Given the description of an element on the screen output the (x, y) to click on. 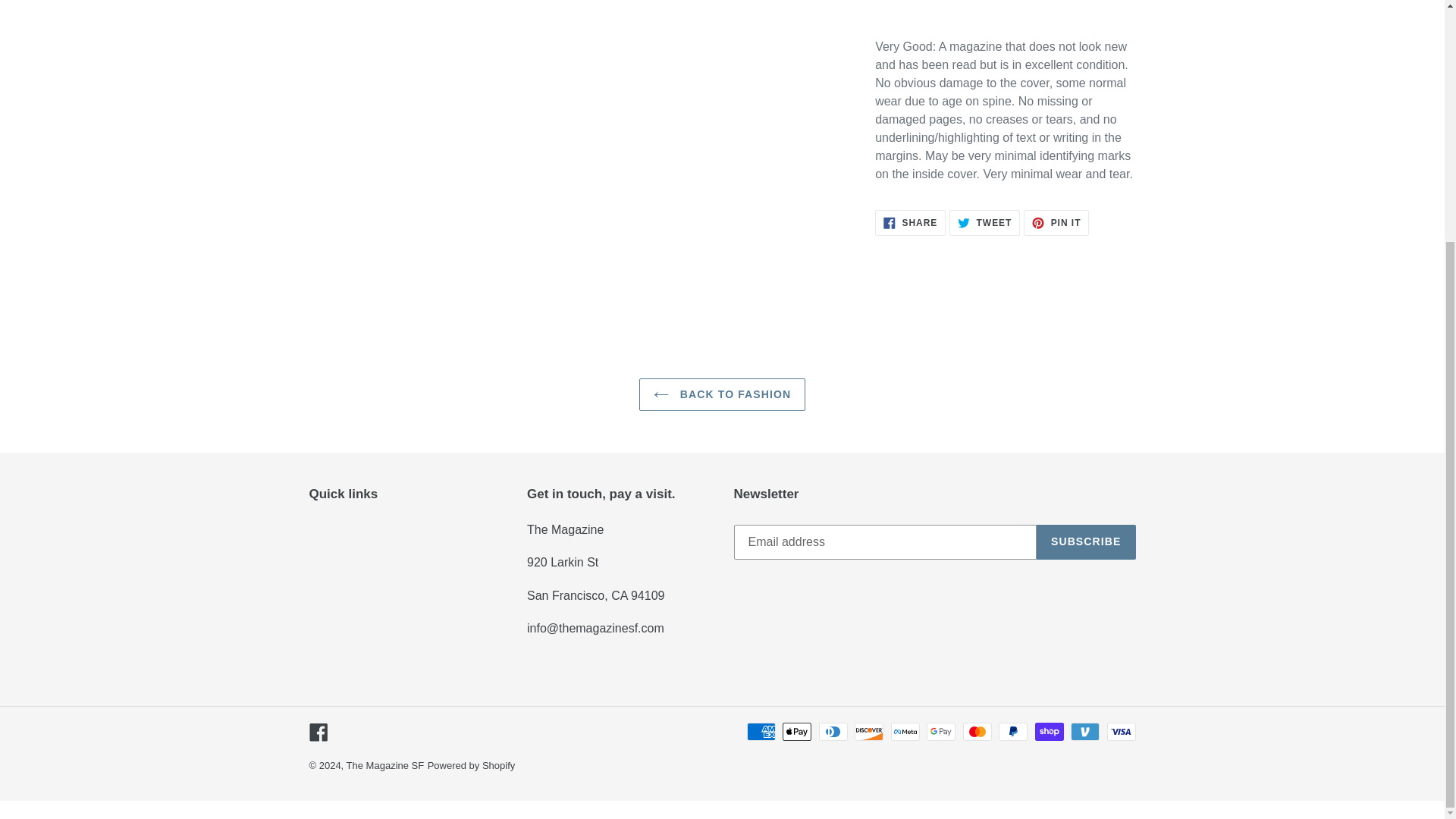
SUBSCRIBE (1085, 541)
BACK TO FASHION (909, 222)
Facebook (722, 393)
Powered by Shopify (984, 222)
The Magazine SF (1056, 222)
